Given the description of an element on the screen output the (x, y) to click on. 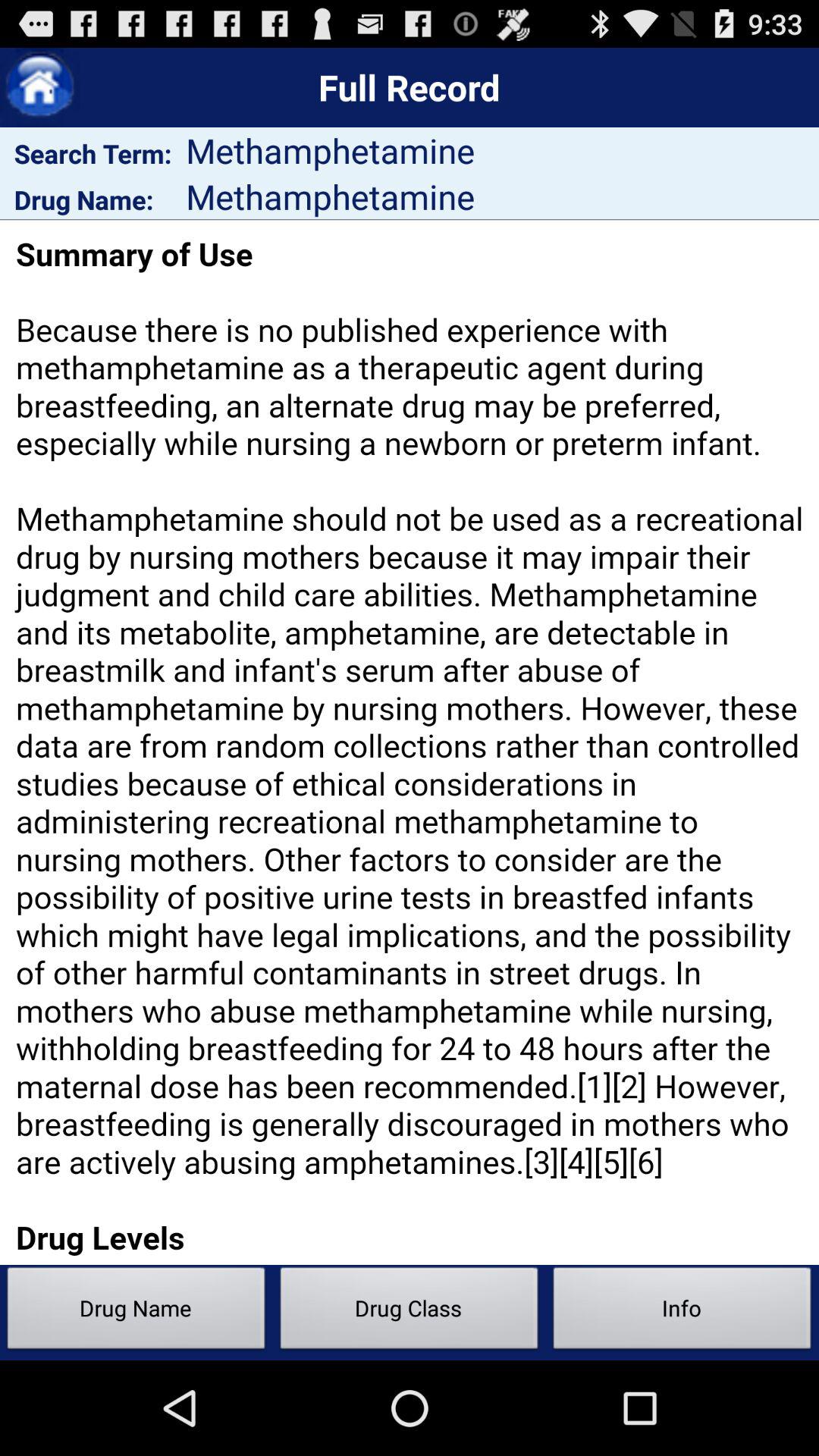
go to icon option (39, 87)
